Given the description of an element on the screen output the (x, y) to click on. 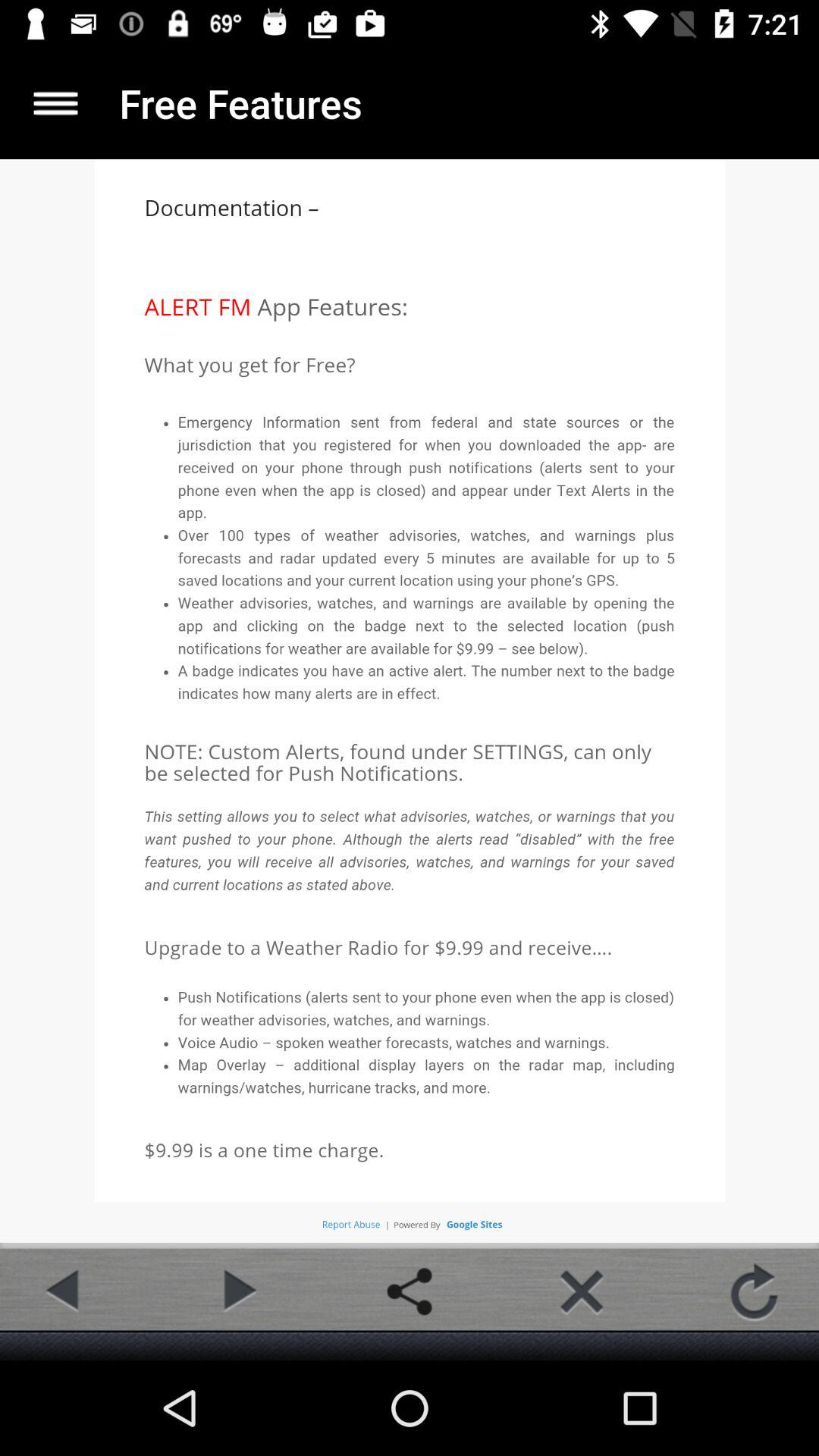
forward (237, 1291)
